Given the description of an element on the screen output the (x, y) to click on. 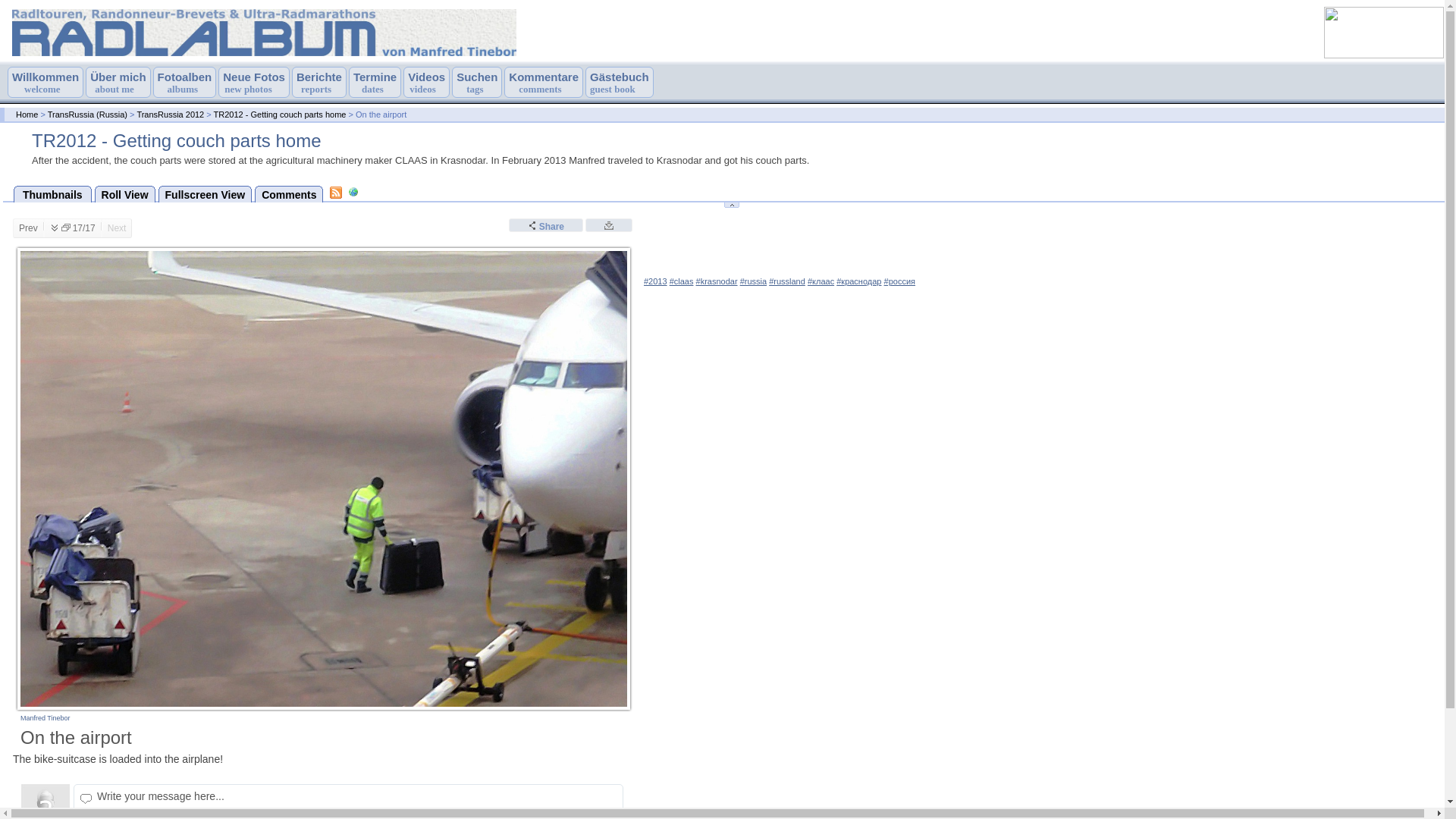
Krasnodar, Russia: 45.0638292,39.0201116 (352, 191)
Manfred's TR2012 - Getting couch parts home album (426, 81)
On the airport (336, 192)
Share (44, 81)
TR2012 - Getting couch parts home (545, 224)
Prev (319, 81)
Next (169, 113)
Home (280, 113)
